Given the description of an element on the screen output the (x, y) to click on. 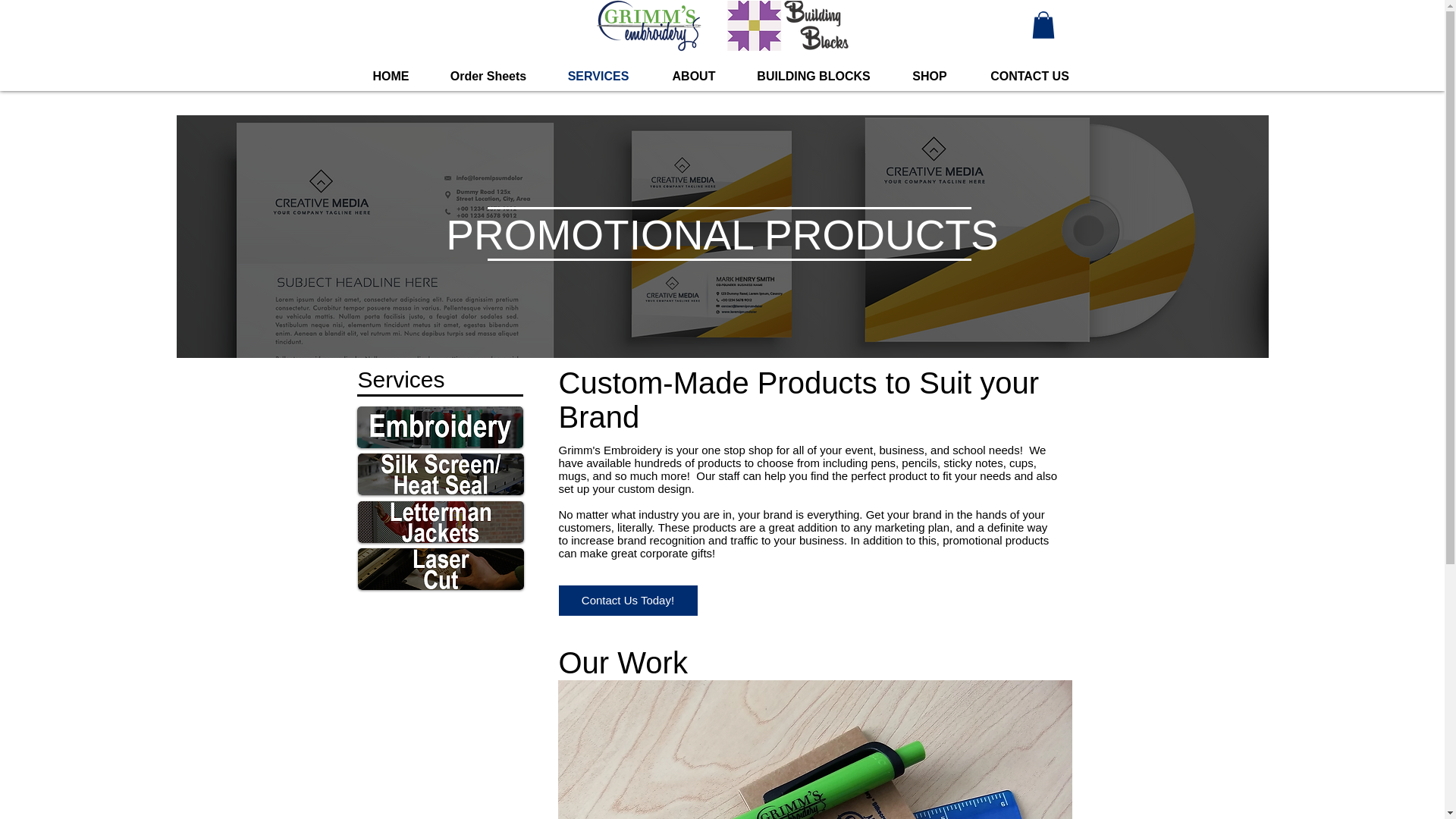
Contact Us Today! (627, 600)
SHOP (928, 76)
CONTACT US (1029, 76)
BUILDING BLOCKS (813, 76)
SERVICES (598, 76)
HOME (390, 76)
ABOUT (693, 76)
